Given the description of an element on the screen output the (x, y) to click on. 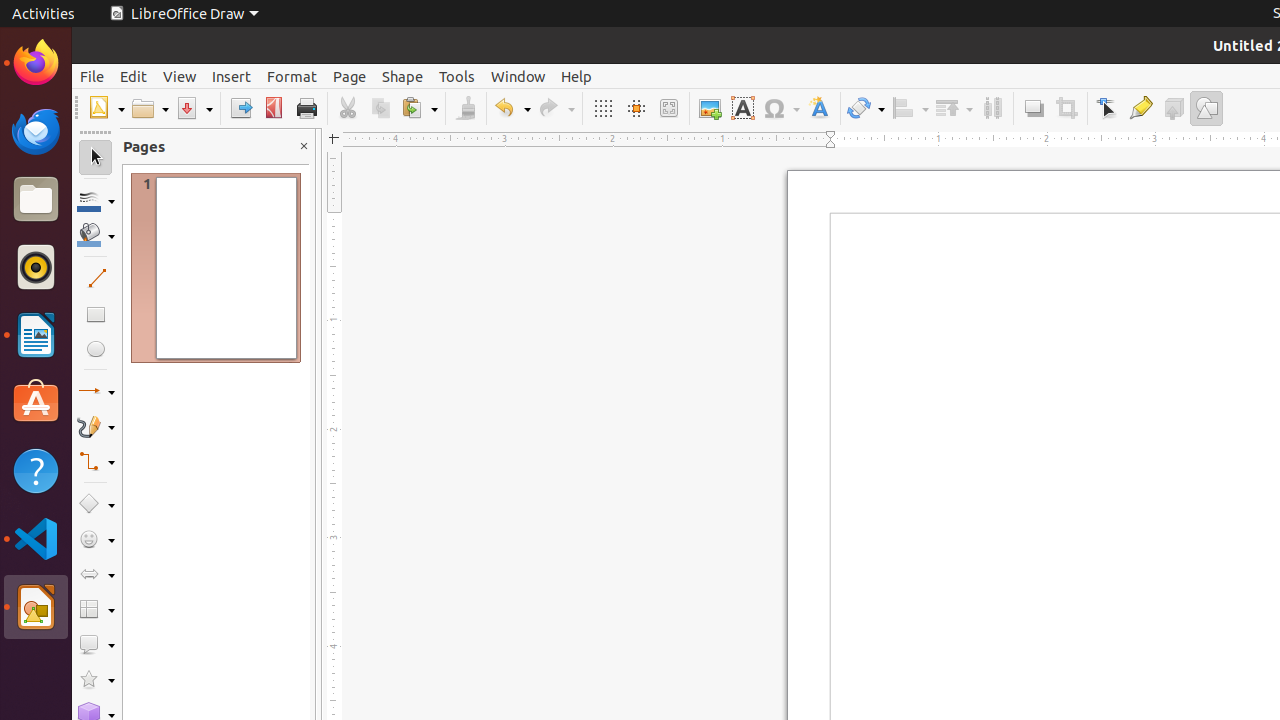
Fontwork Style Element type: toggle-button (819, 108)
Print Element type: push-button (306, 108)
Shape Element type: menu (402, 76)
Save Element type: push-button (194, 108)
Clone Element type: push-button (465, 108)
